Given the description of an element on the screen output the (x, y) to click on. 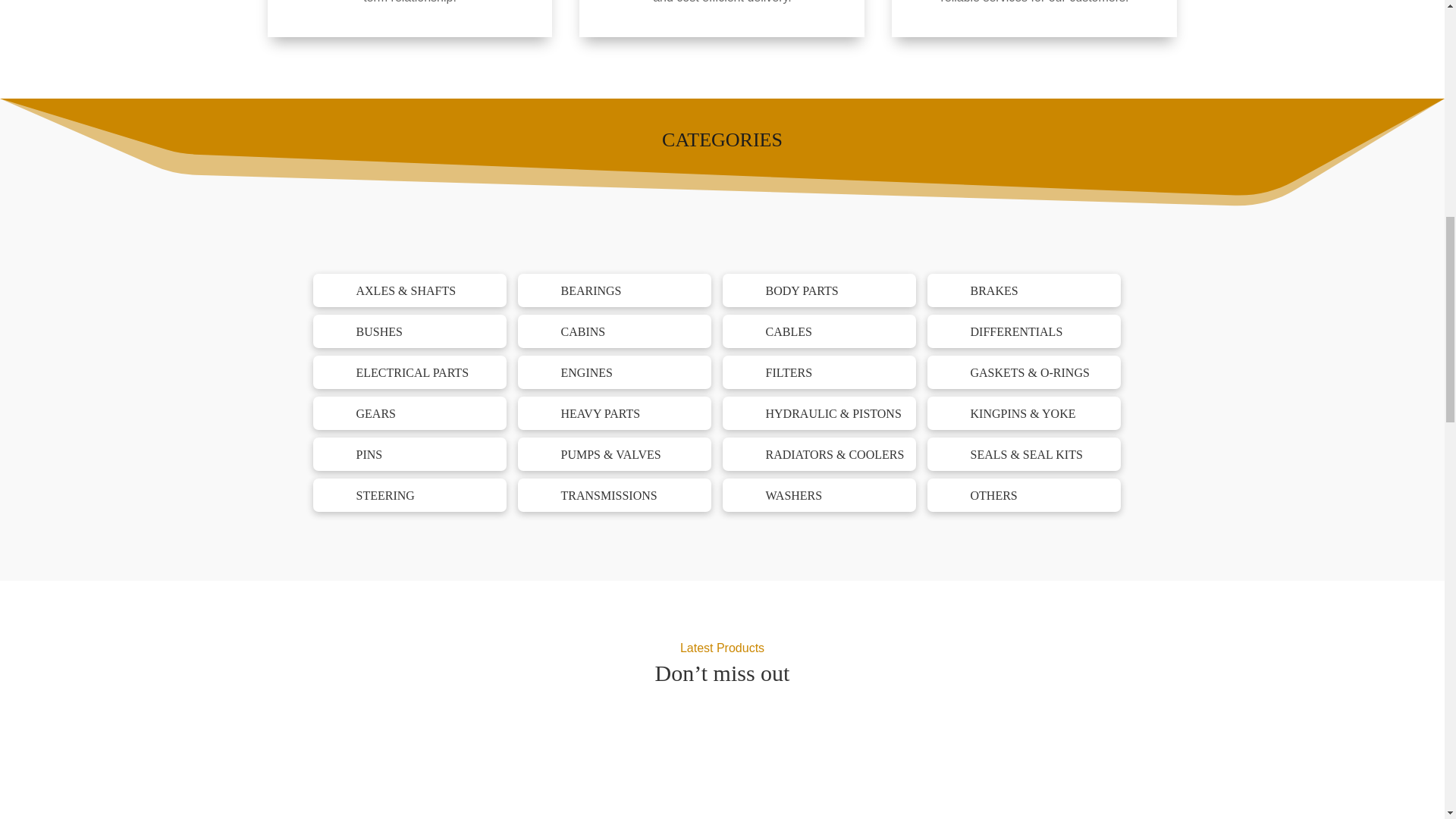
PINS (369, 454)
ELECTRICAL PARTS (412, 372)
BUSHES (379, 331)
GEARS (376, 413)
